Given the description of an element on the screen output the (x, y) to click on. 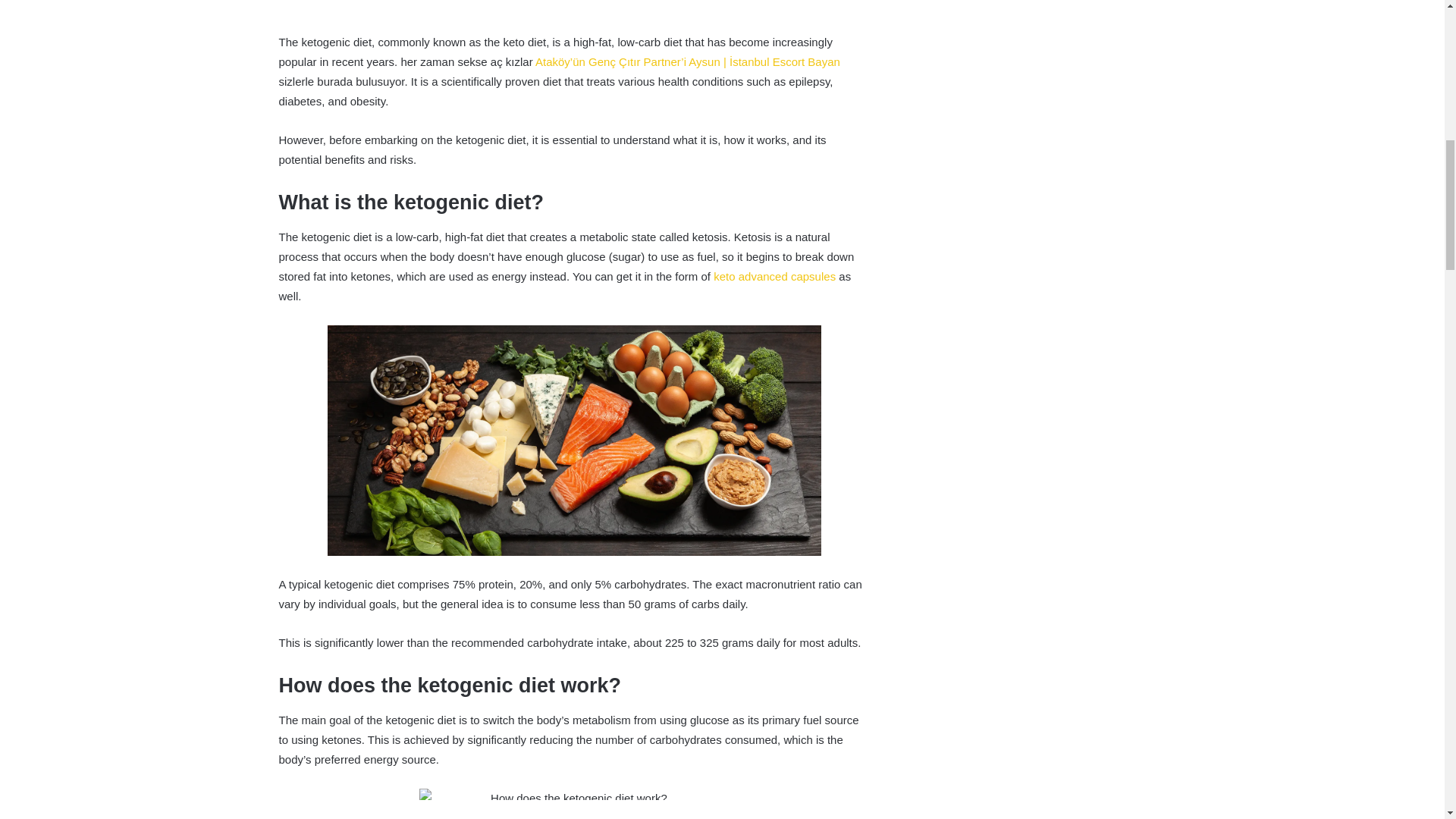
keto advanced capsules (774, 276)
